Given the description of an element on the screen output the (x, y) to click on. 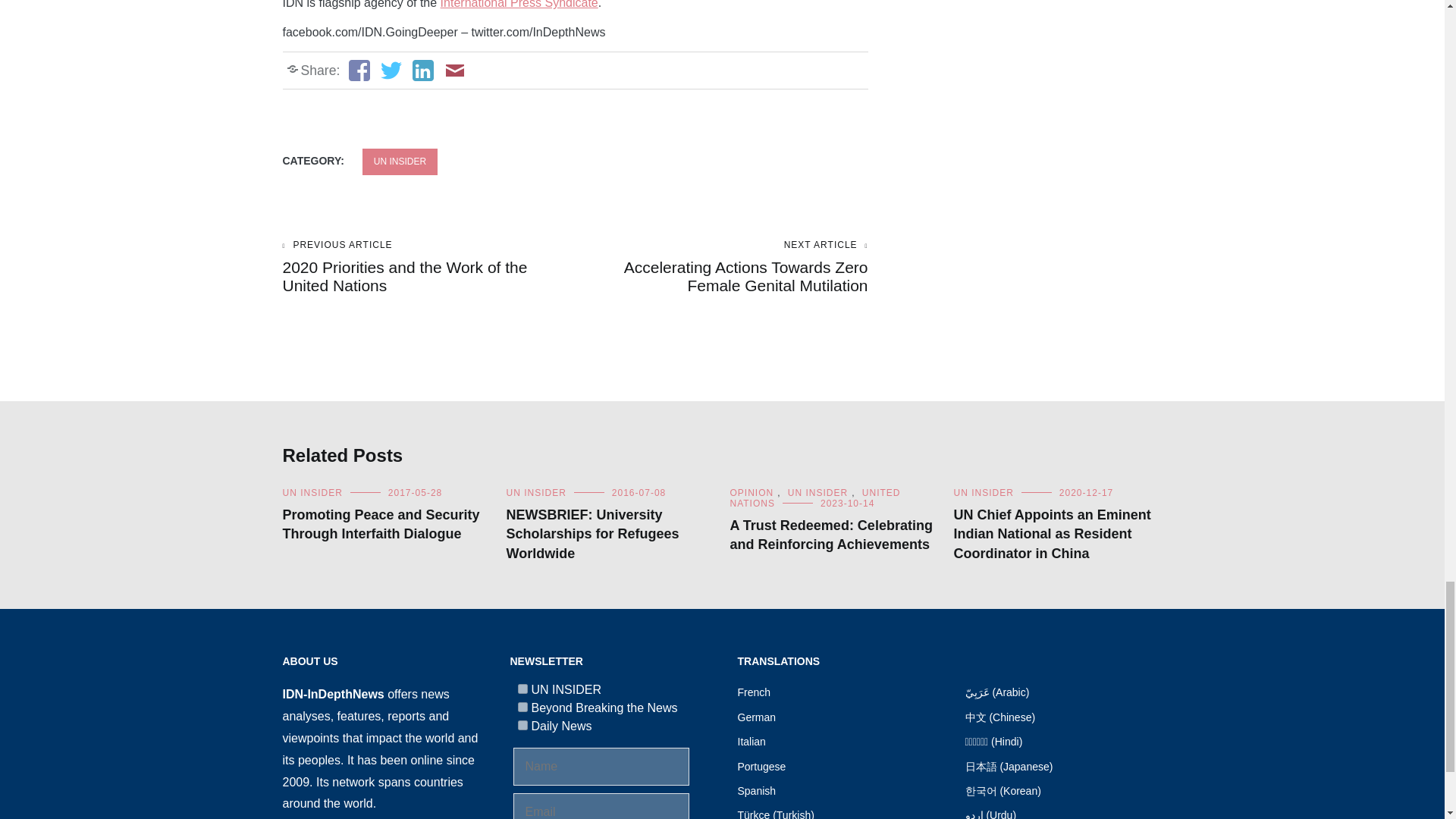
10 (521, 725)
7 (521, 688)
9 (521, 706)
